Given the description of an element on the screen output the (x, y) to click on. 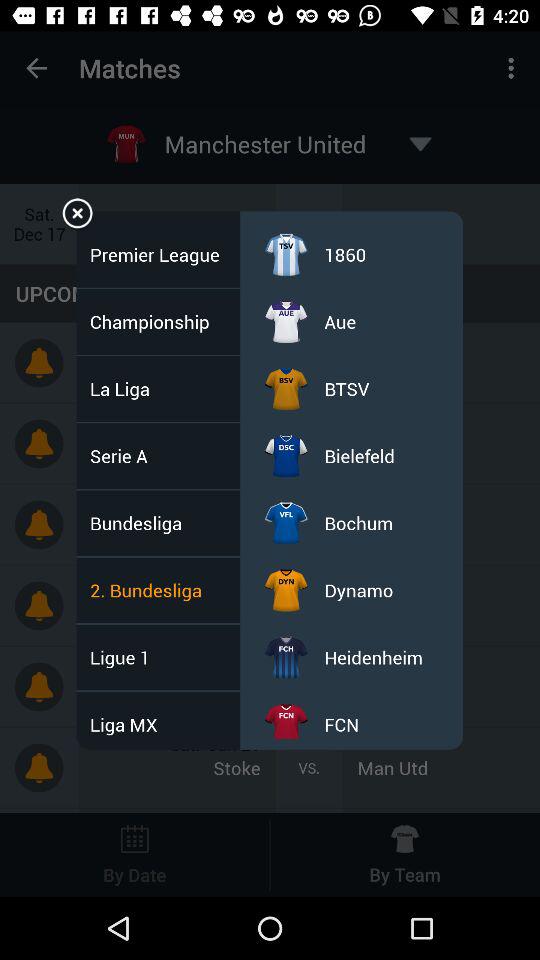
close menu (77, 216)
